Given the description of an element on the screen output the (x, y) to click on. 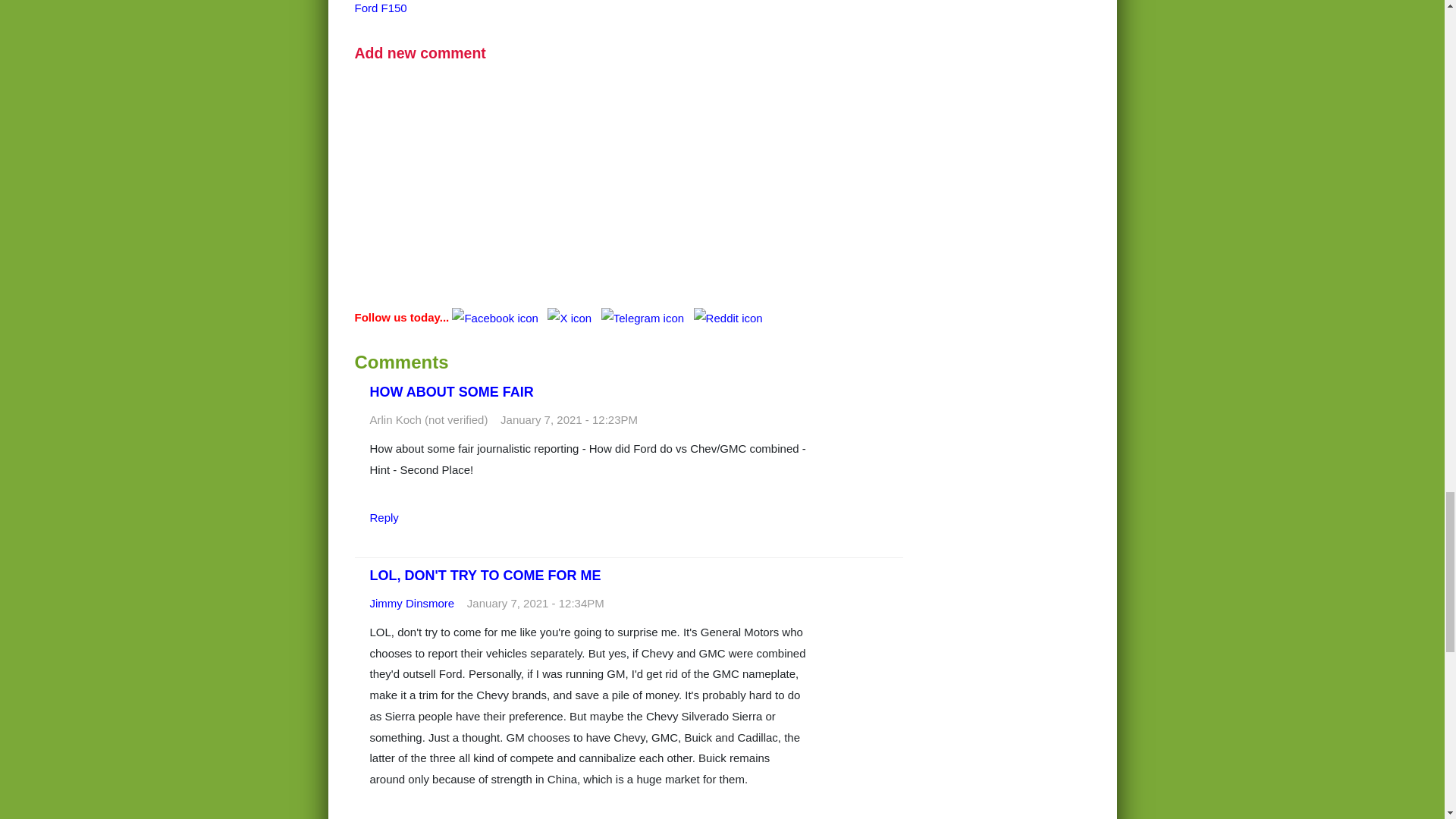
Ford F150 (381, 7)
Add new comment (420, 53)
Join us on Telegram! (644, 317)
Share your thoughts and opinions. (420, 53)
View user profile. (411, 603)
Join us on Reddit! (728, 317)
Reply (383, 517)
HOW ABOUT SOME FAIR (451, 391)
